Given the description of an element on the screen output the (x, y) to click on. 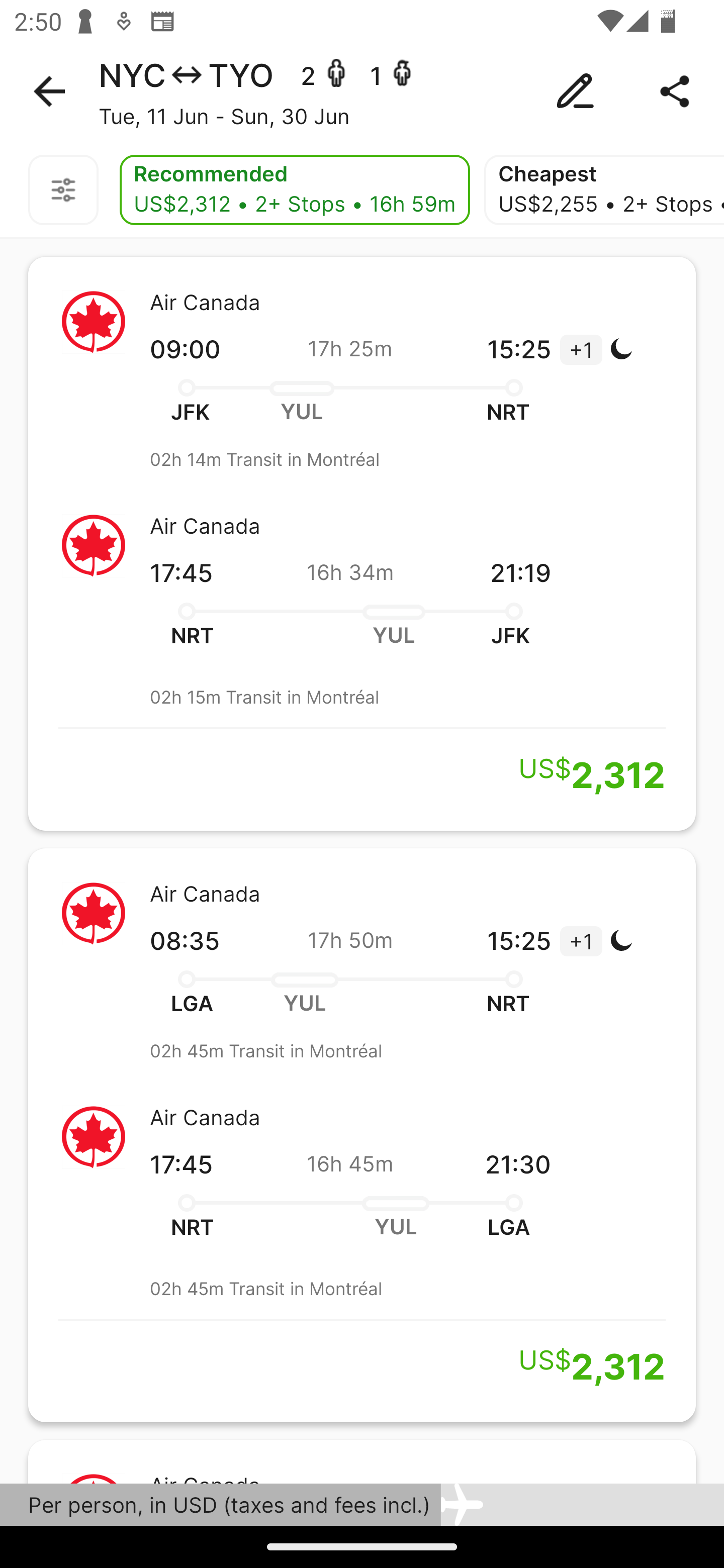
NYC TYO   2 -   1 - Tue, 11 Jun - Sun, 30 Jun (361, 91)
Recommended  US$2,312 • 2+ Stops • 16h 59m (294, 190)
Cheapest US$2,255 • 2+ Stops • 24h 8m (604, 190)
